Given the description of an element on the screen output the (x, y) to click on. 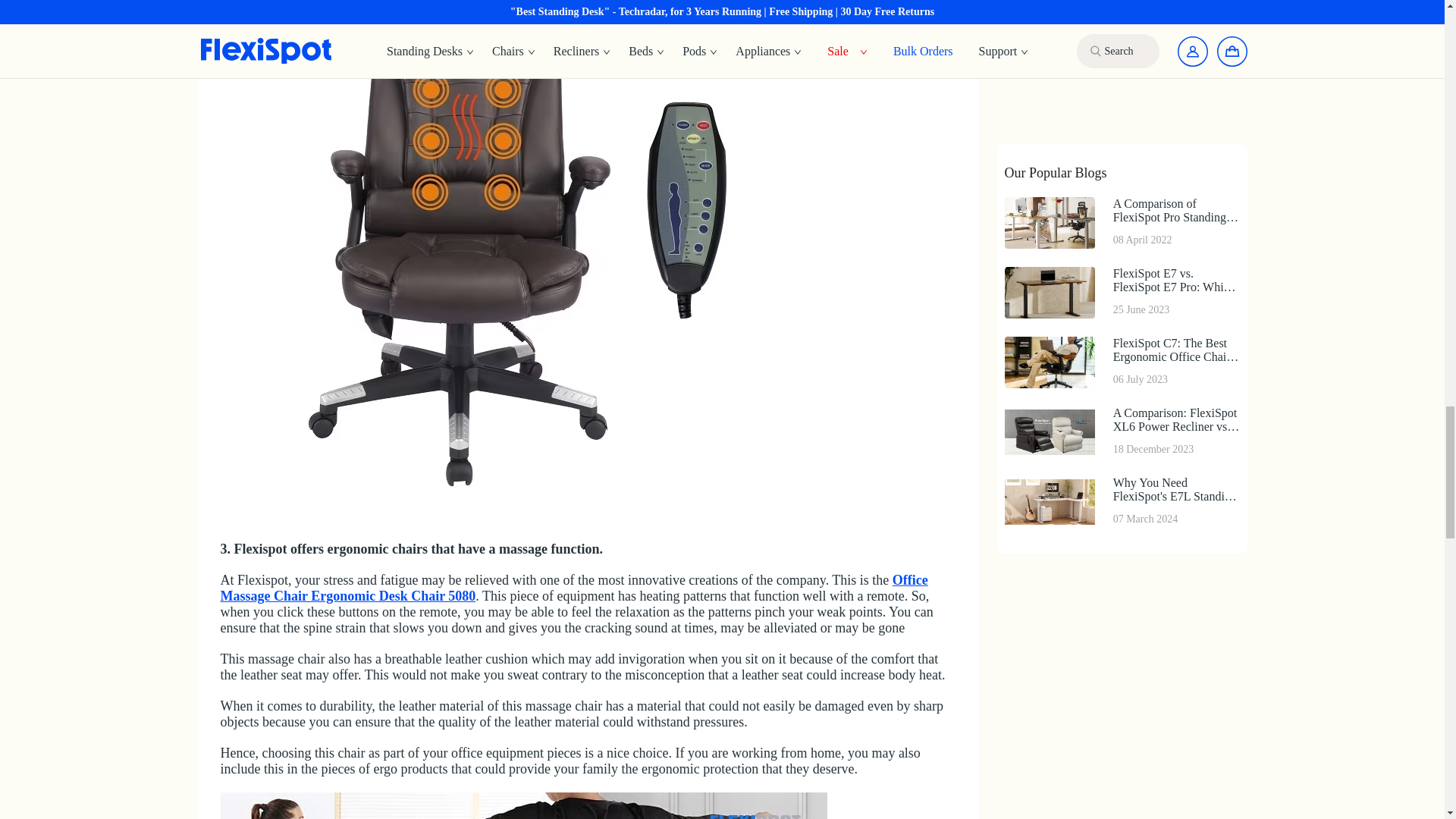
Vibration Plate VB1 (523, 805)
Office Massage Chair Ergonomic Desk Chair 5080 (573, 587)
